Given the description of an element on the screen output the (x, y) to click on. 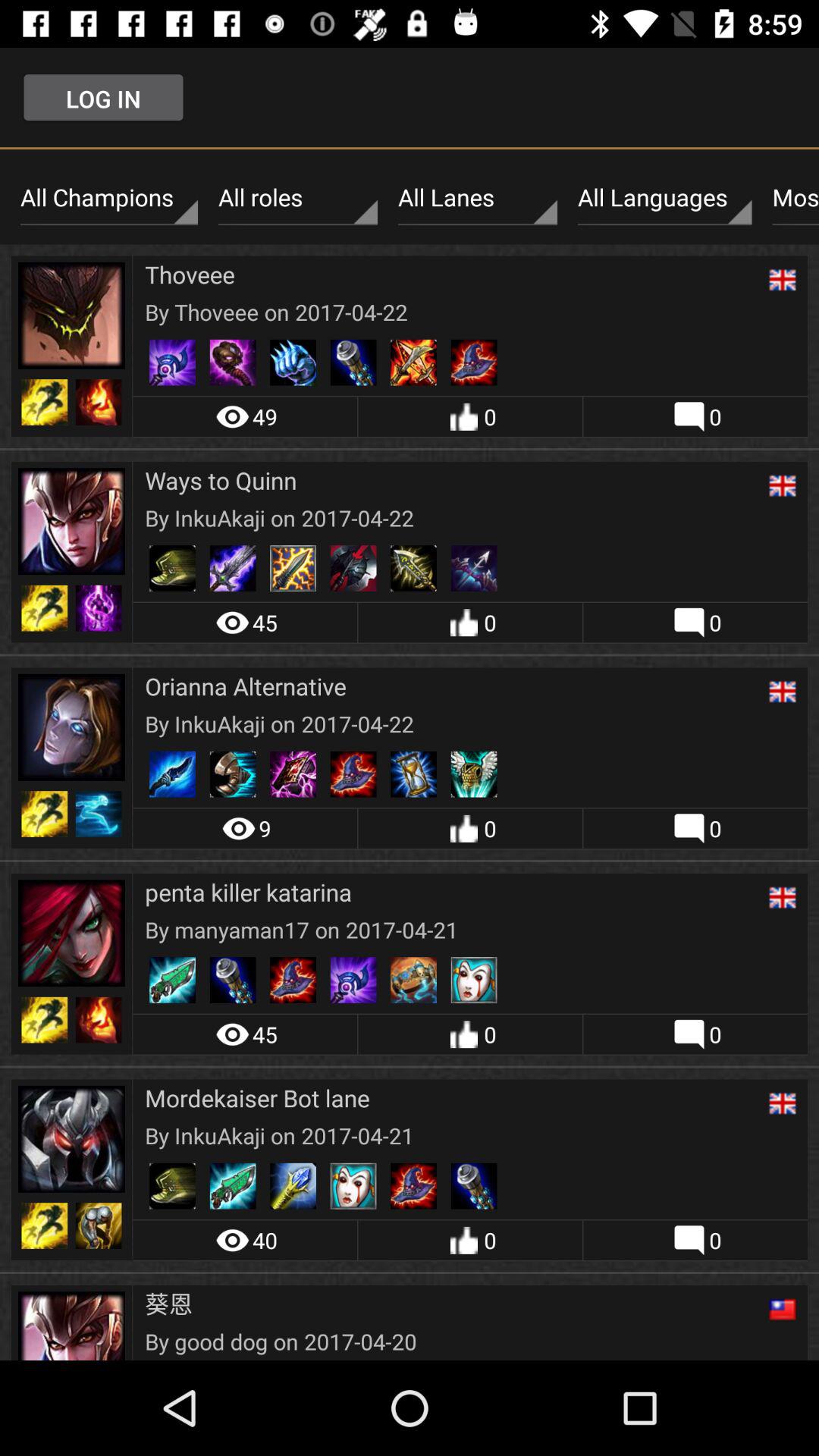
turn off item next to the all roles icon (108, 198)
